Given the description of an element on the screen output the (x, y) to click on. 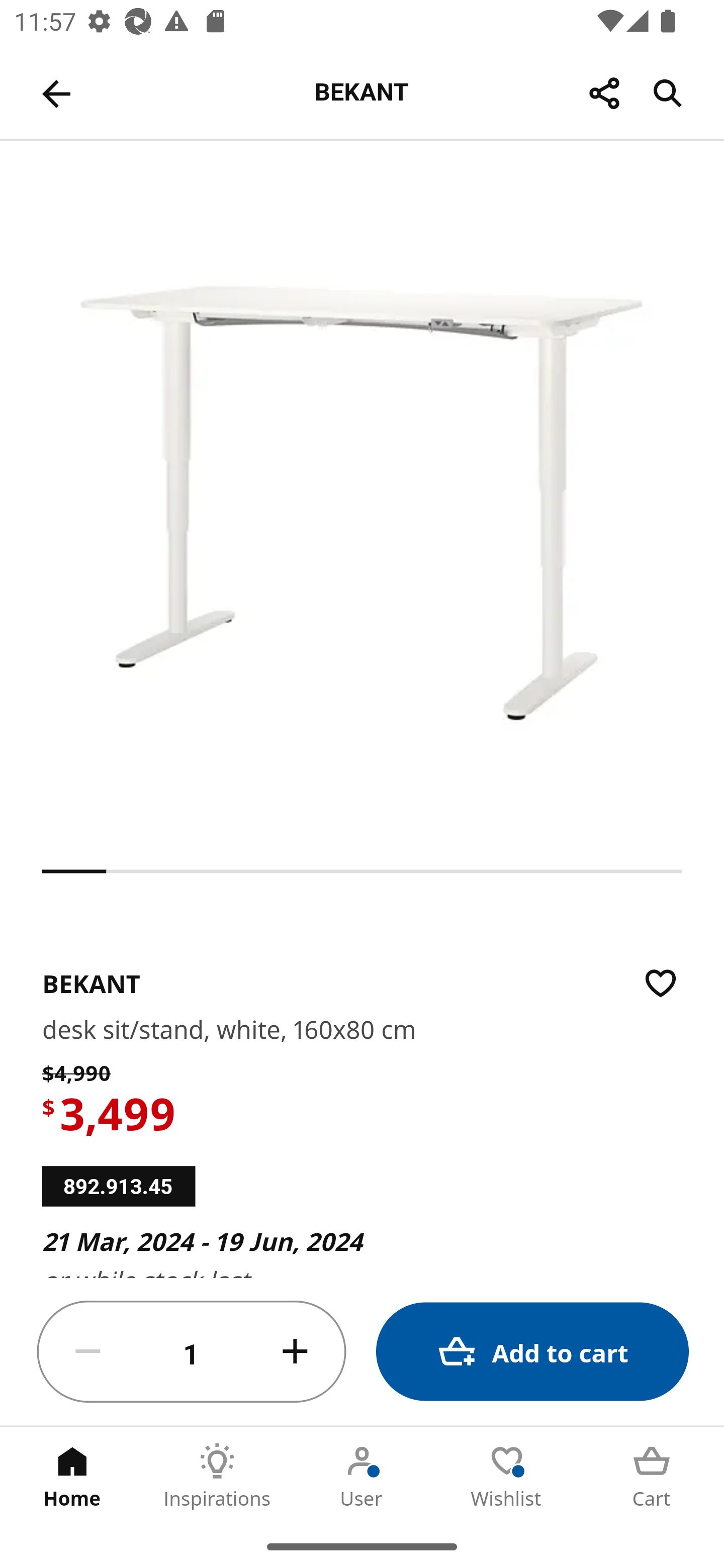
Add to cart (531, 1352)
1 (191, 1352)
Home
Tab 1 of 5 (72, 1476)
Inspirations
Tab 2 of 5 (216, 1476)
User
Tab 3 of 5 (361, 1476)
Wishlist
Tab 4 of 5 (506, 1476)
Cart
Tab 5 of 5 (651, 1476)
